Given the description of an element on the screen output the (x, y) to click on. 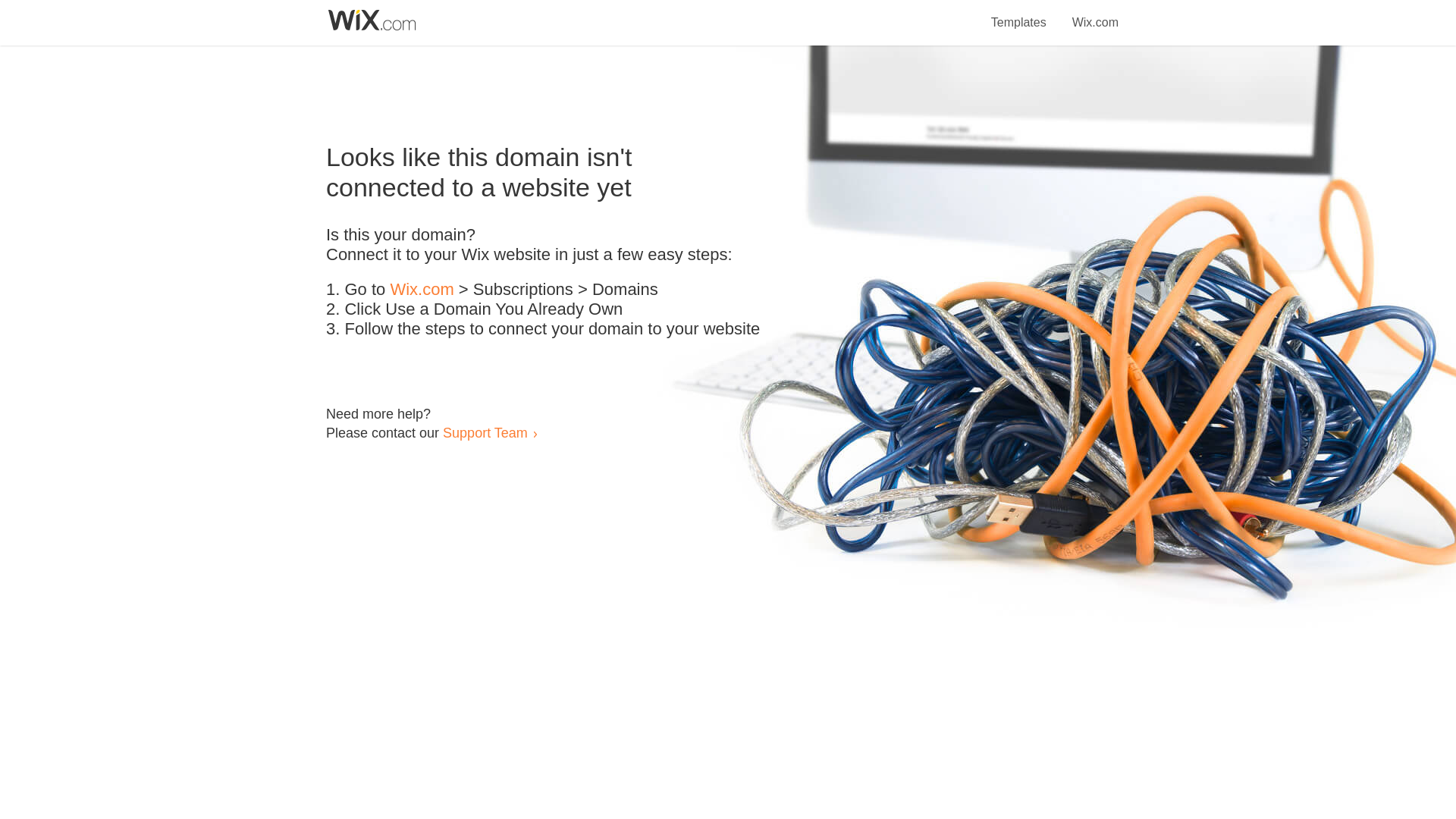
Wix.com (1095, 14)
Wix.com (421, 289)
Templates (1018, 14)
Support Team (484, 432)
